Given the description of an element on the screen output the (x, y) to click on. 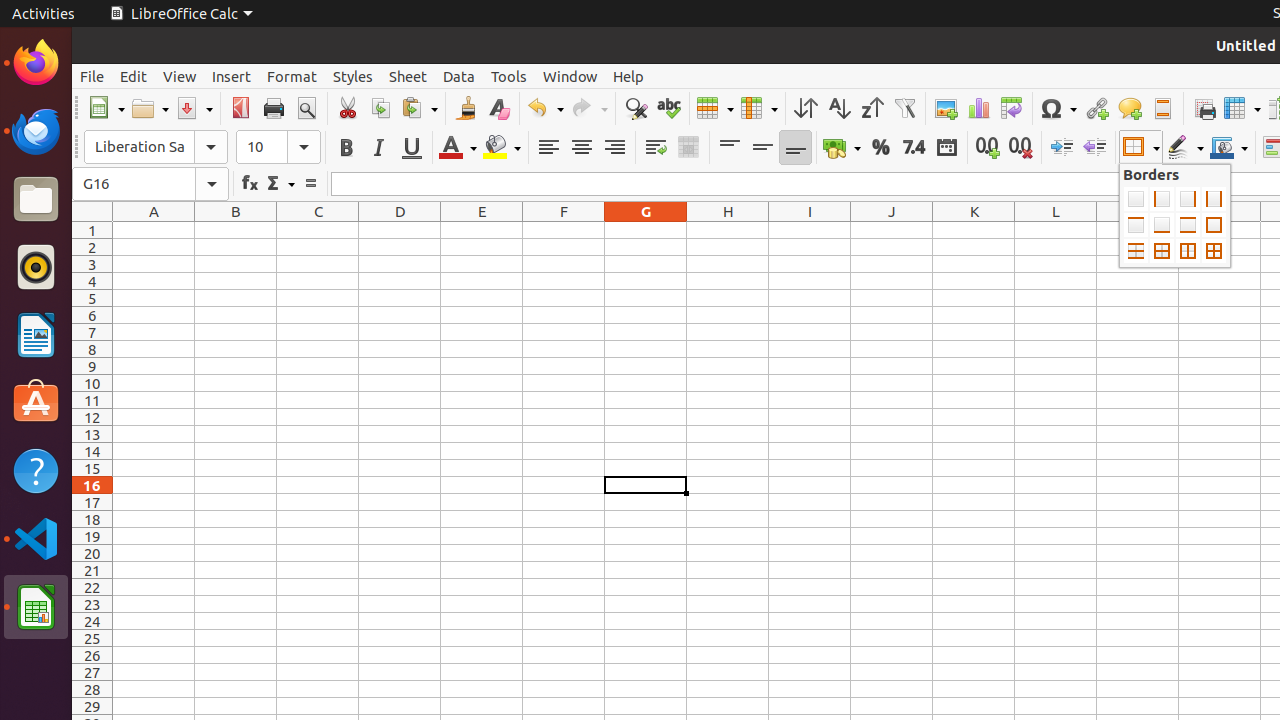
Currency Element type: push-button (842, 147)
Visual Studio Code Element type: push-button (36, 538)
Select Function Element type: push-button (280, 183)
Align Right Element type: push-button (614, 147)
Align Top Element type: push-button (729, 147)
